Given the description of an element on the screen output the (x, y) to click on. 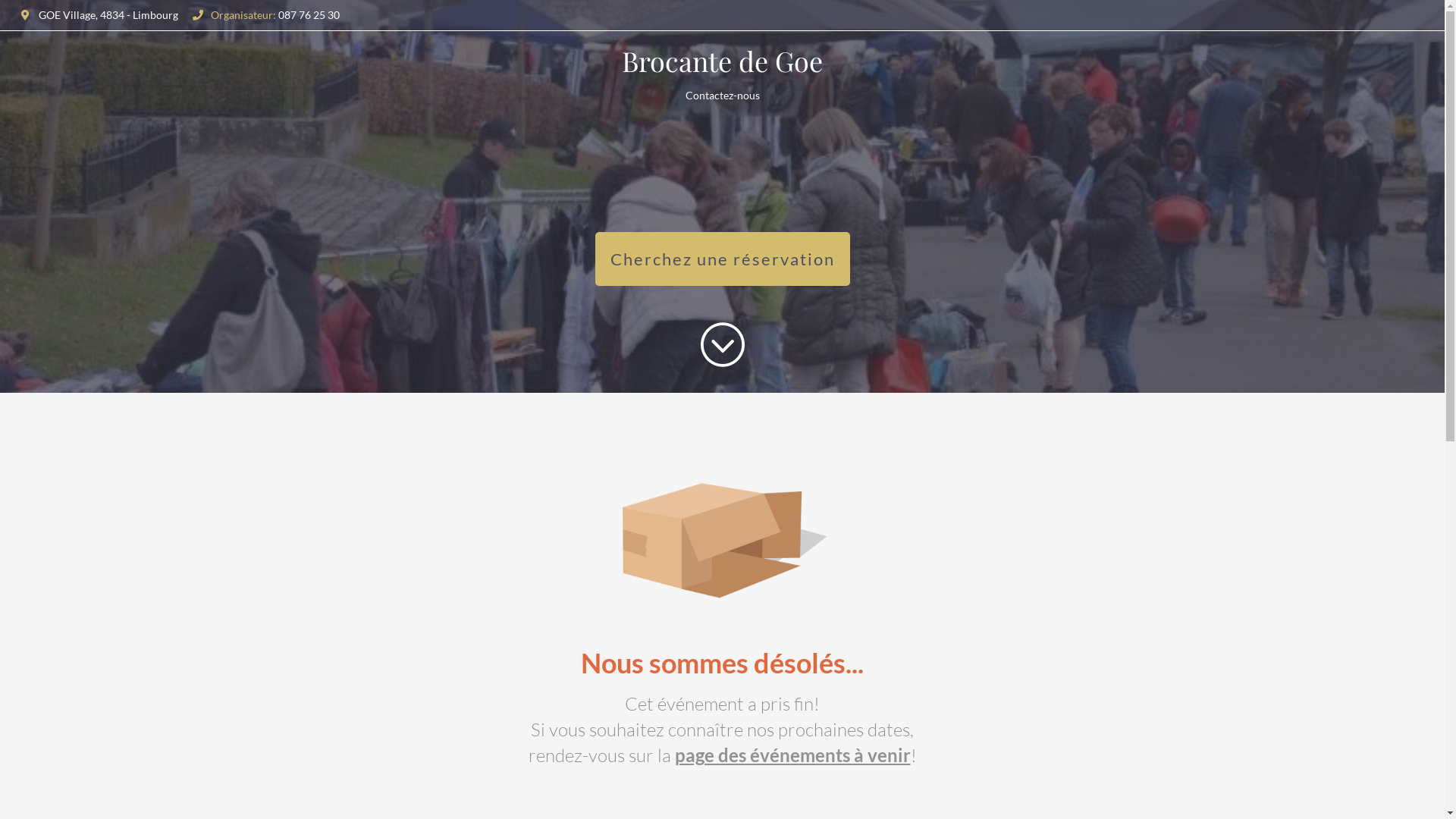
GOE Village, 4834 - Limbourg Element type: text (93, 14)
Organisateur: 087 76 25 30 Element type: text (260, 14)
Contactez-nous Element type: text (722, 95)
